Given the description of an element on the screen output the (x, y) to click on. 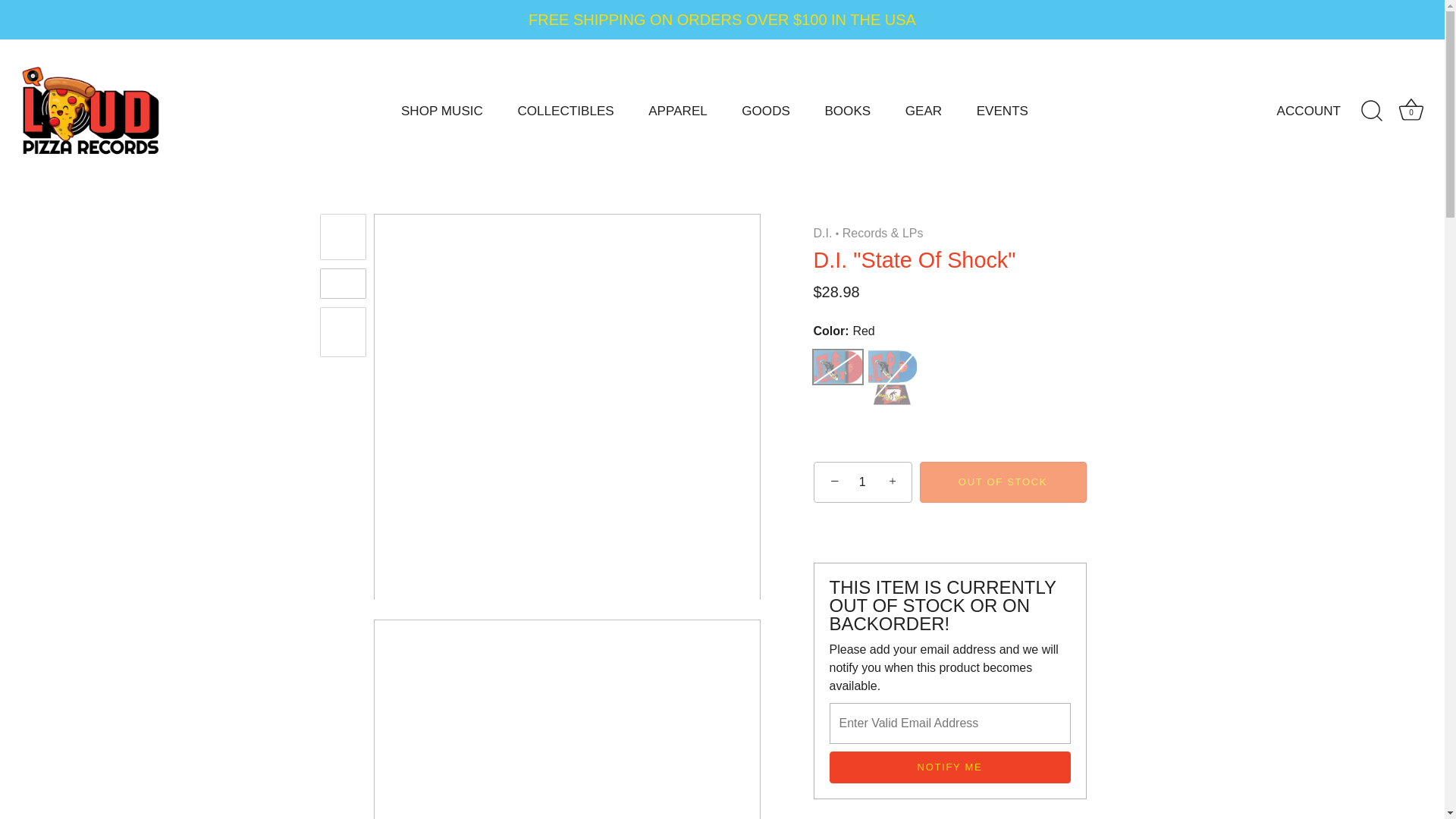
SHOP MUSIC (441, 110)
COLLECTIBLES (565, 110)
Basket (1410, 109)
